Given the description of an element on the screen output the (x, y) to click on. 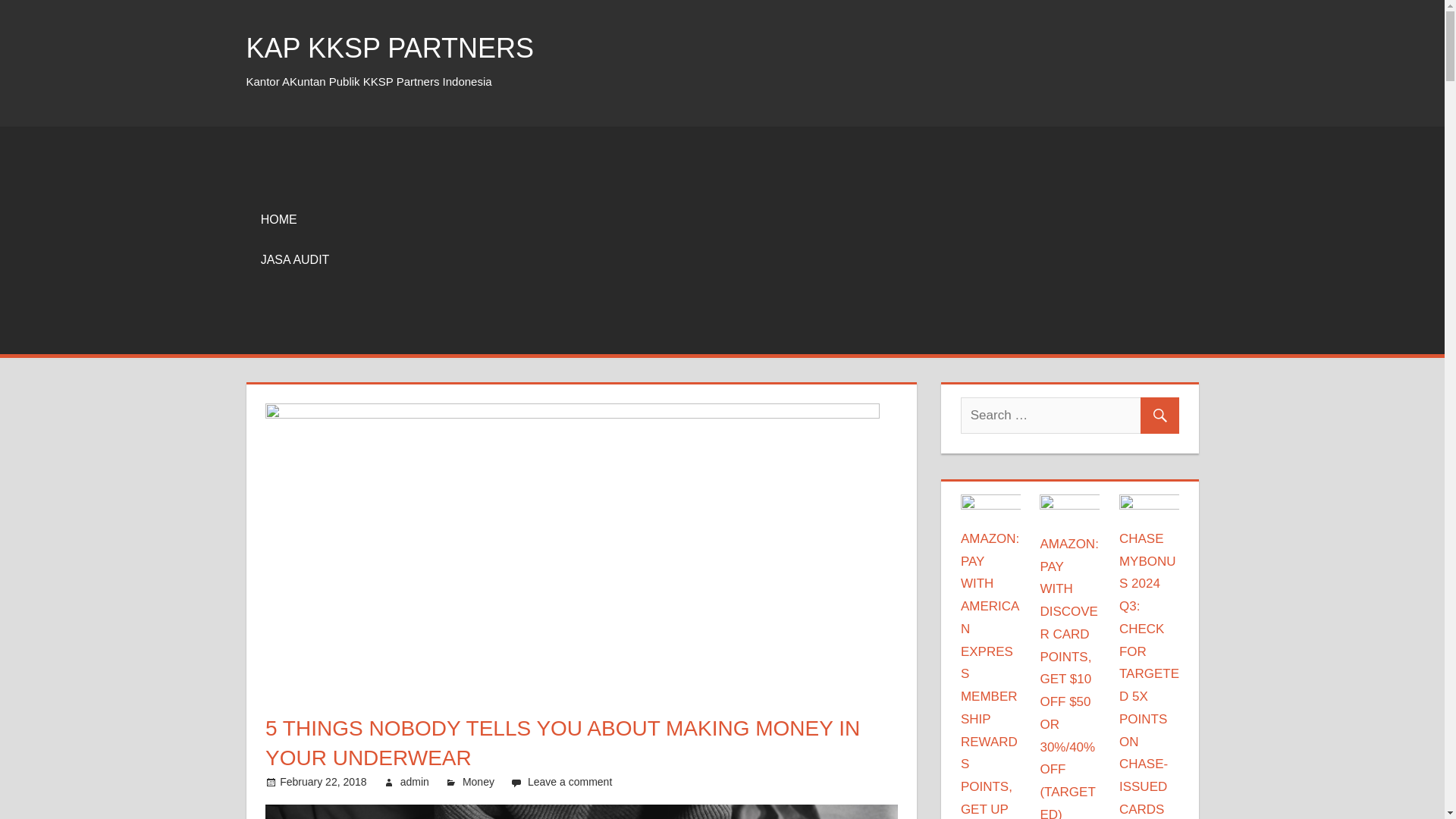
Money (479, 781)
JASA AUDIT (294, 260)
1:09 am (322, 781)
KAP KKSP PARTNERS (390, 47)
admin (414, 781)
View all posts by admin (414, 781)
Leave a comment (569, 781)
February 22, 2018 (322, 781)
Search for: (1069, 415)
